Given the description of an element on the screen output the (x, y) to click on. 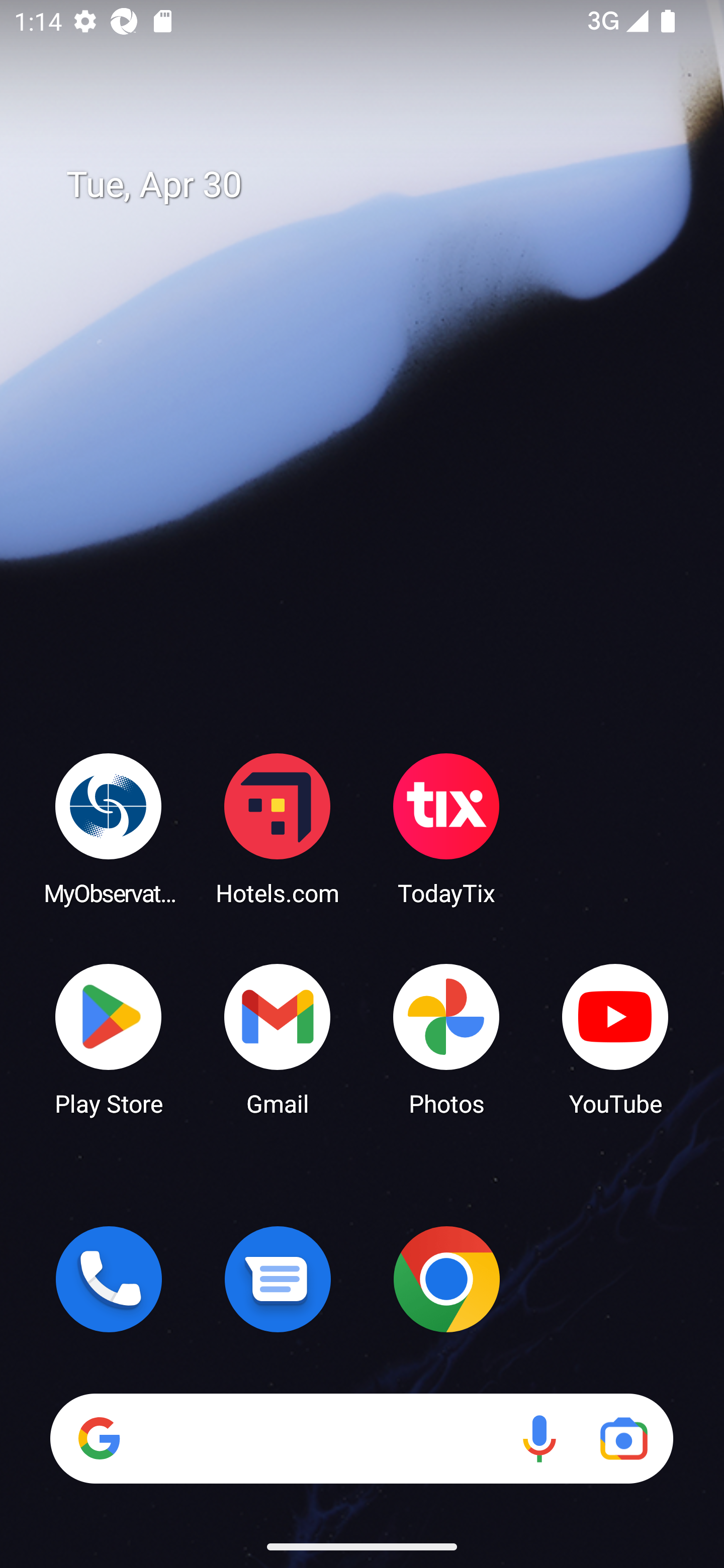
Tue, Apr 30 (375, 184)
MyObservatory (108, 828)
Hotels.com (277, 828)
TodayTix (445, 828)
Play Store (108, 1038)
Gmail (277, 1038)
Photos (445, 1038)
YouTube (615, 1038)
Phone (108, 1279)
Messages (277, 1279)
Chrome (446, 1279)
Voice search (539, 1438)
Google Lens (623, 1438)
